Given the description of an element on the screen output the (x, y) to click on. 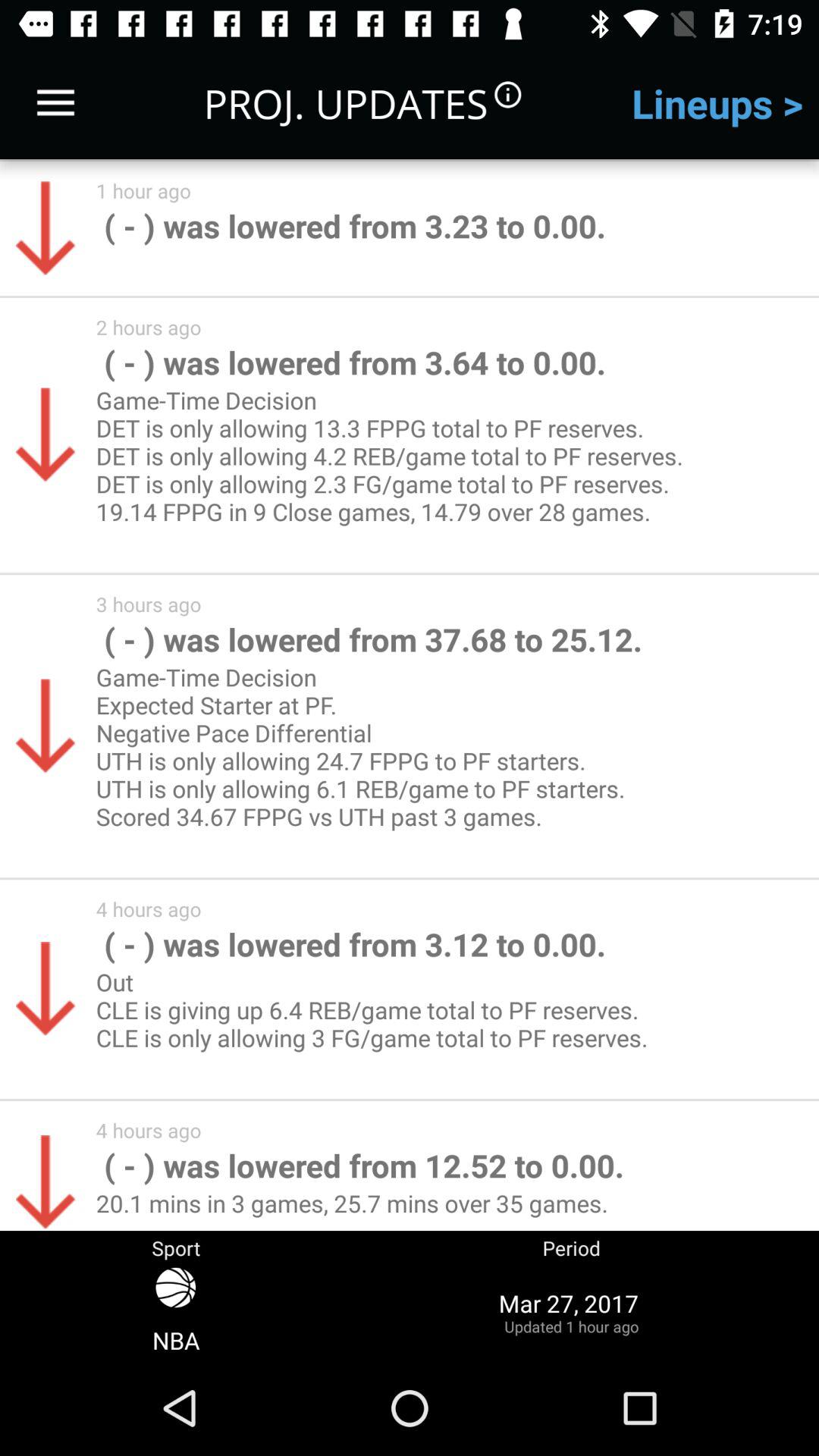
tap item to the left of the proj. updates (55, 103)
